Given the description of an element on the screen output the (x, y) to click on. 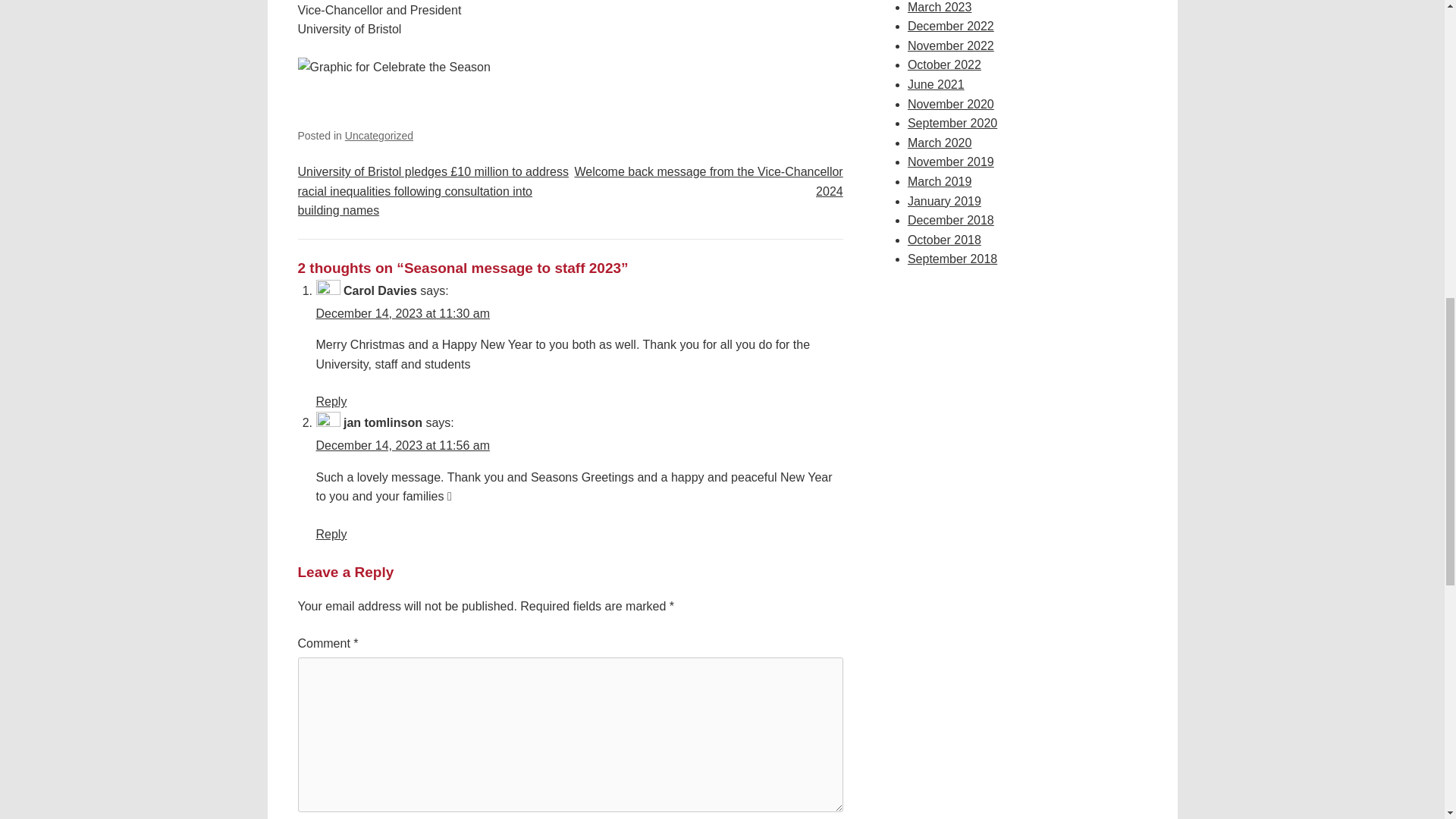
Uncategorized (379, 135)
October 2022 (944, 64)
Reply (330, 533)
November 2022 (950, 45)
December 2018 (950, 219)
March 2023 (939, 6)
November 2020 (950, 103)
January 2019 (944, 201)
March 2019 (939, 181)
March 2020 (939, 142)
